Given the description of an element on the screen output the (x, y) to click on. 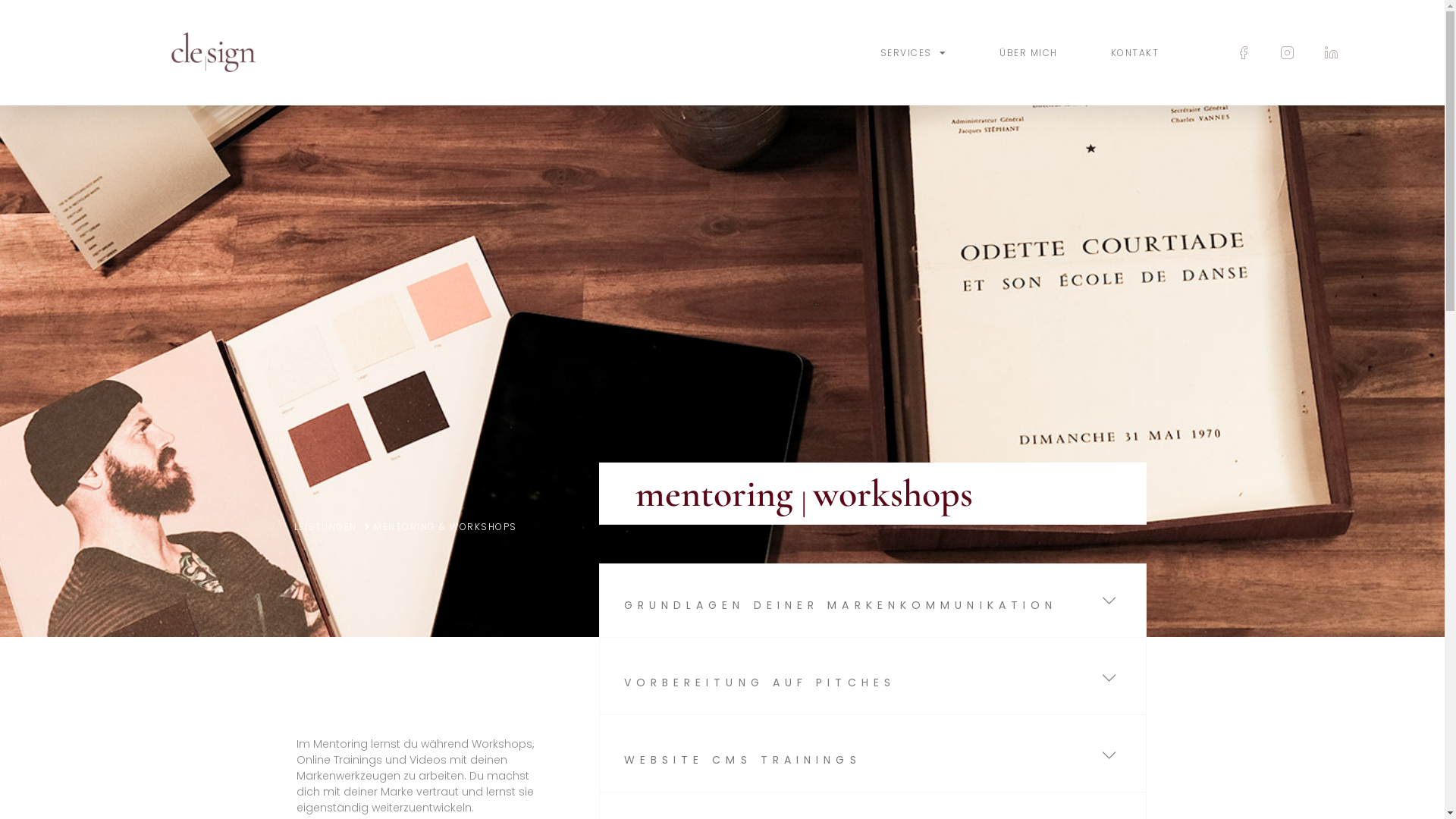
VORBEREITUNG AUF PITCHES Element type: text (758, 682)
WEBSITE CMS TRAININGS Element type: text (741, 759)
LEISTUNGEN Element type: text (331, 526)
KONTAKT Element type: text (1134, 52)
SERVICES Element type: text (913, 52)
